Given the description of an element on the screen output the (x, y) to click on. 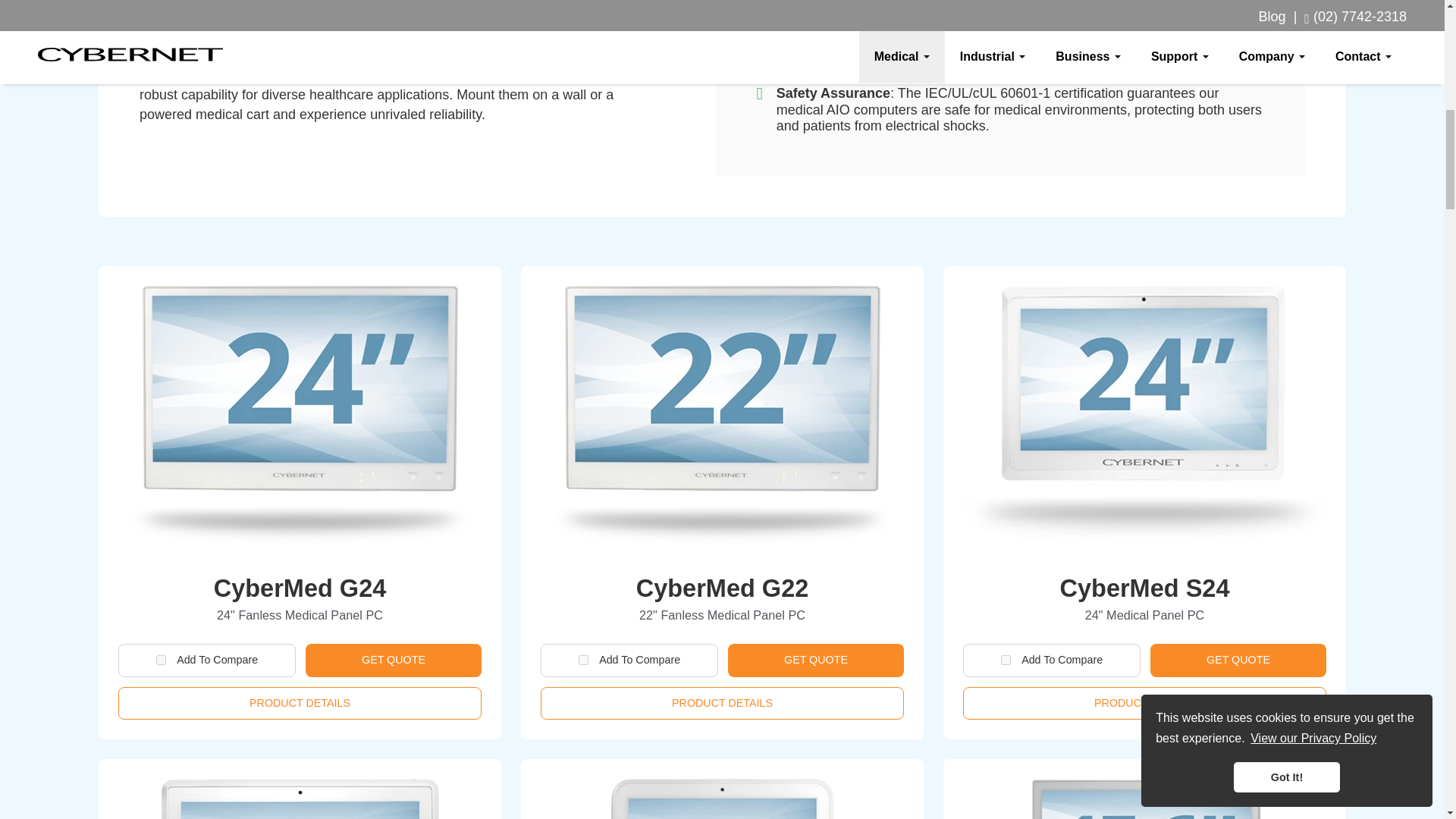
317 (160, 660)
244 (1005, 660)
311 (583, 660)
